Given the description of an element on the screen output the (x, y) to click on. 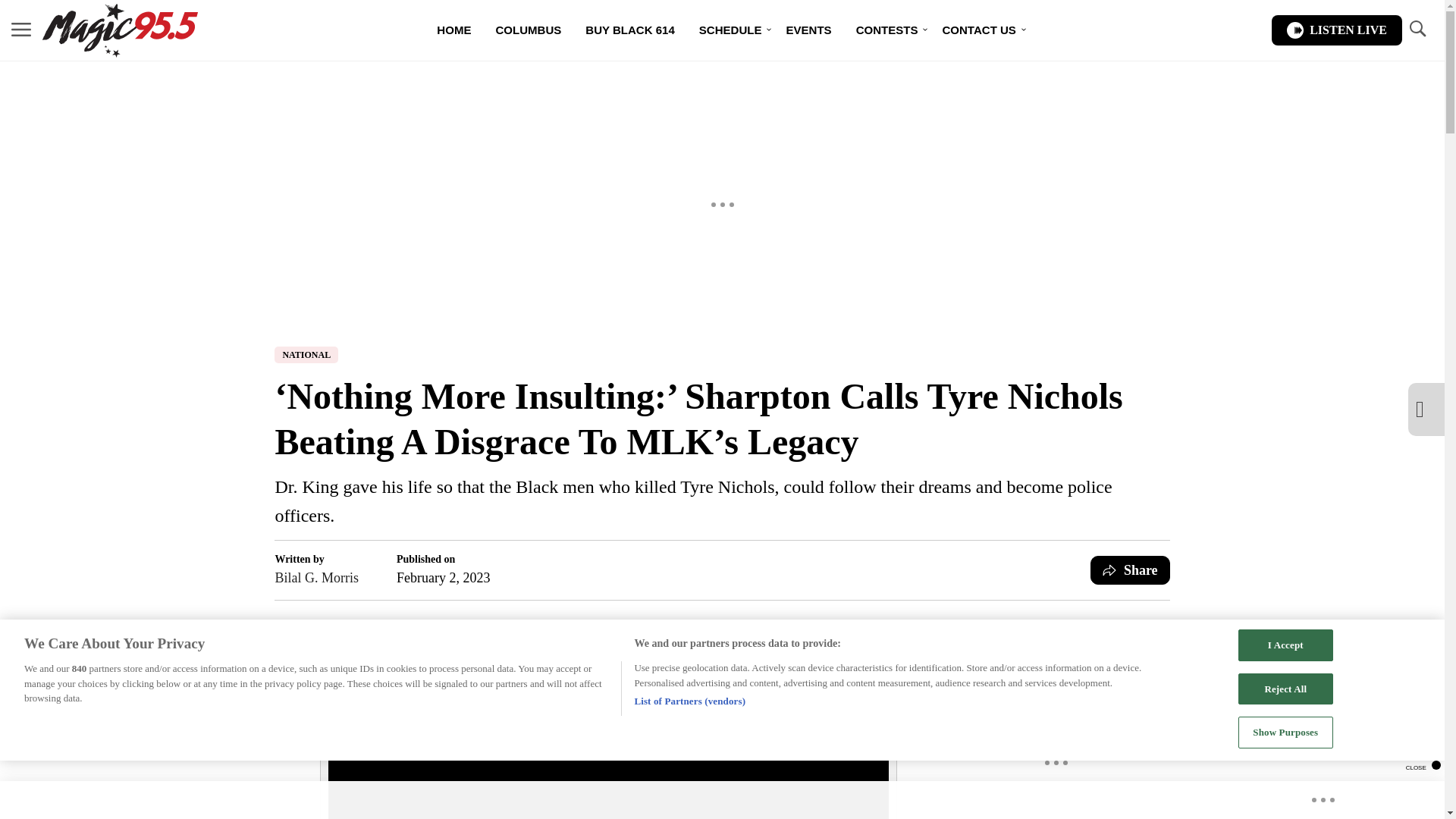
BUY BLACK 614 (630, 30)
TOGGLE SEARCH (1417, 30)
COLUMBUS (528, 30)
CONTESTS (887, 30)
CONTACT US (978, 30)
MENU (20, 30)
MENU (20, 29)
LISTEN LIVE (1336, 30)
Bilal G. Morris (316, 577)
NATIONAL (306, 354)
EVENTS (808, 30)
SCHEDULE (730, 30)
HOME (454, 30)
TOGGLE SEARCH (1417, 28)
Share (1130, 570)
